Given the description of an element on the screen output the (x, y) to click on. 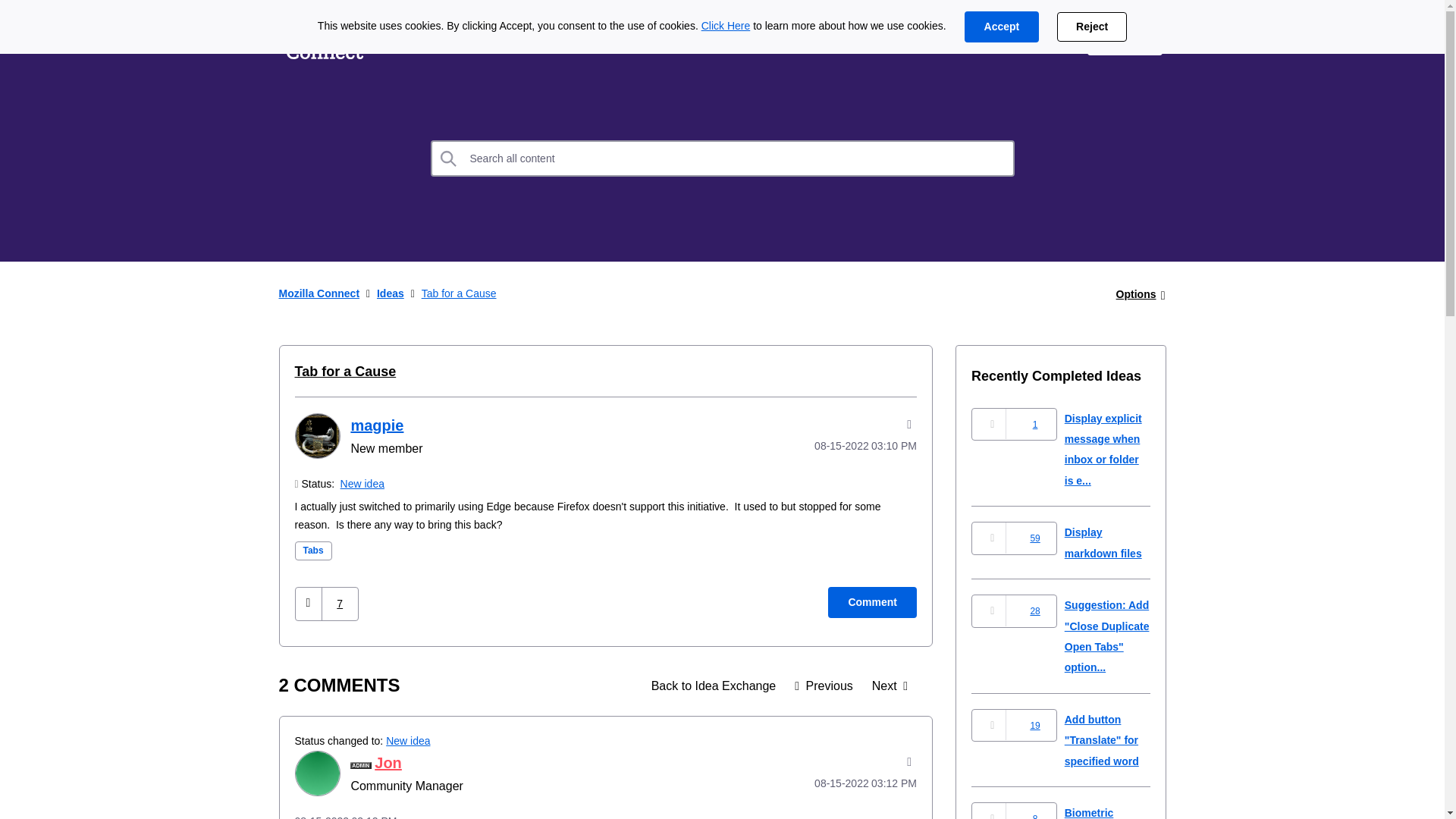
Click here to see who gave kudos to this post. (339, 603)
7 (339, 603)
Support (1040, 39)
Mozilla Connect (324, 39)
Tab for a Cause (345, 371)
Facebook Container Add-In but for Google sites and services (889, 685)
Search (448, 158)
Jon (316, 773)
Search (722, 158)
Accept (1001, 26)
magpie (376, 425)
New idea (362, 483)
Ideas (714, 685)
Community (607, 39)
